Given the description of an element on the screen output the (x, y) to click on. 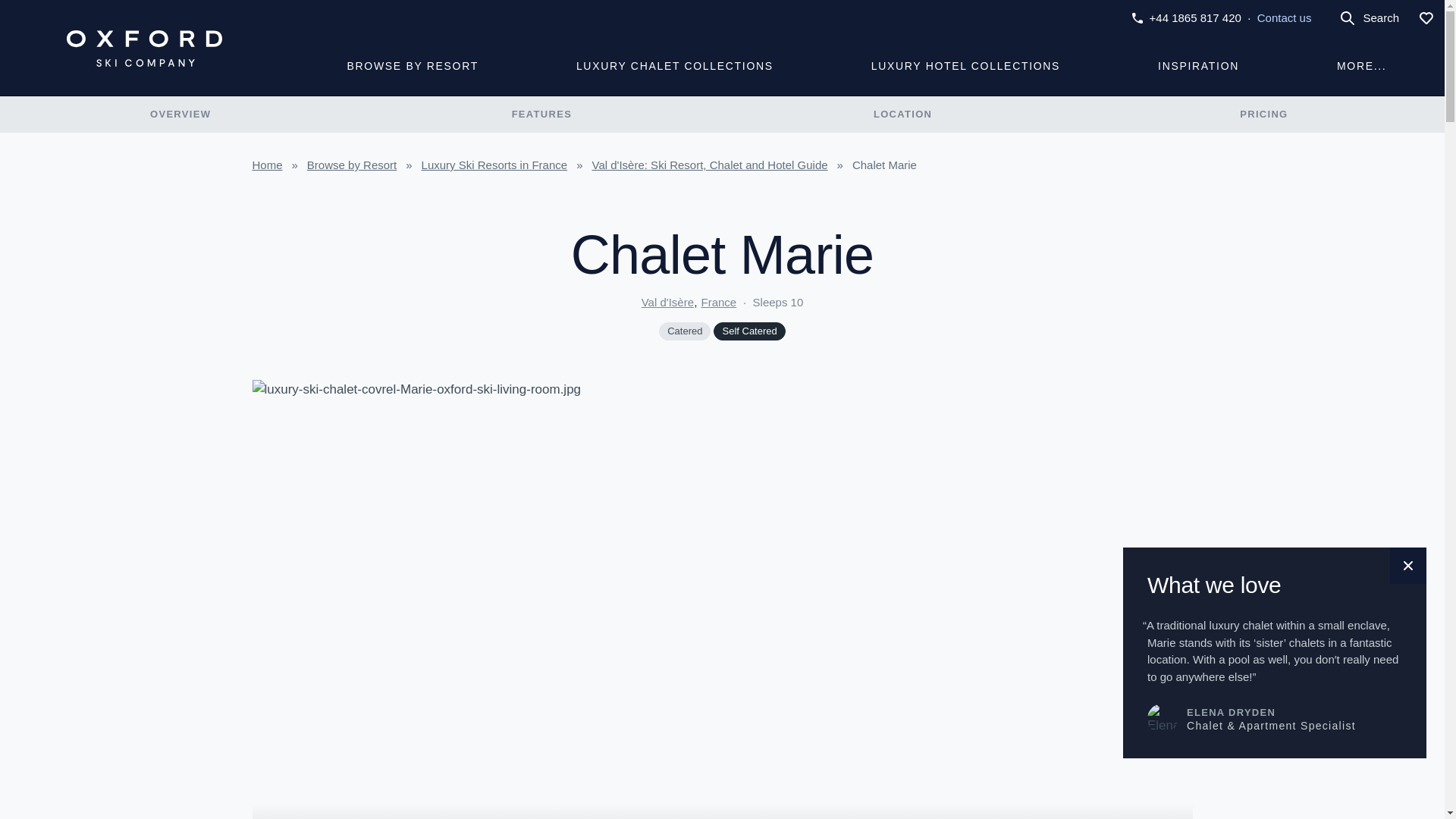
Search (1368, 18)
BROWSE BY RESORT (413, 66)
Contact us (1284, 18)
Oxford Ski Company (143, 48)
Phone us (1186, 18)
Contact us (1284, 18)
